Given the description of an element on the screen output the (x, y) to click on. 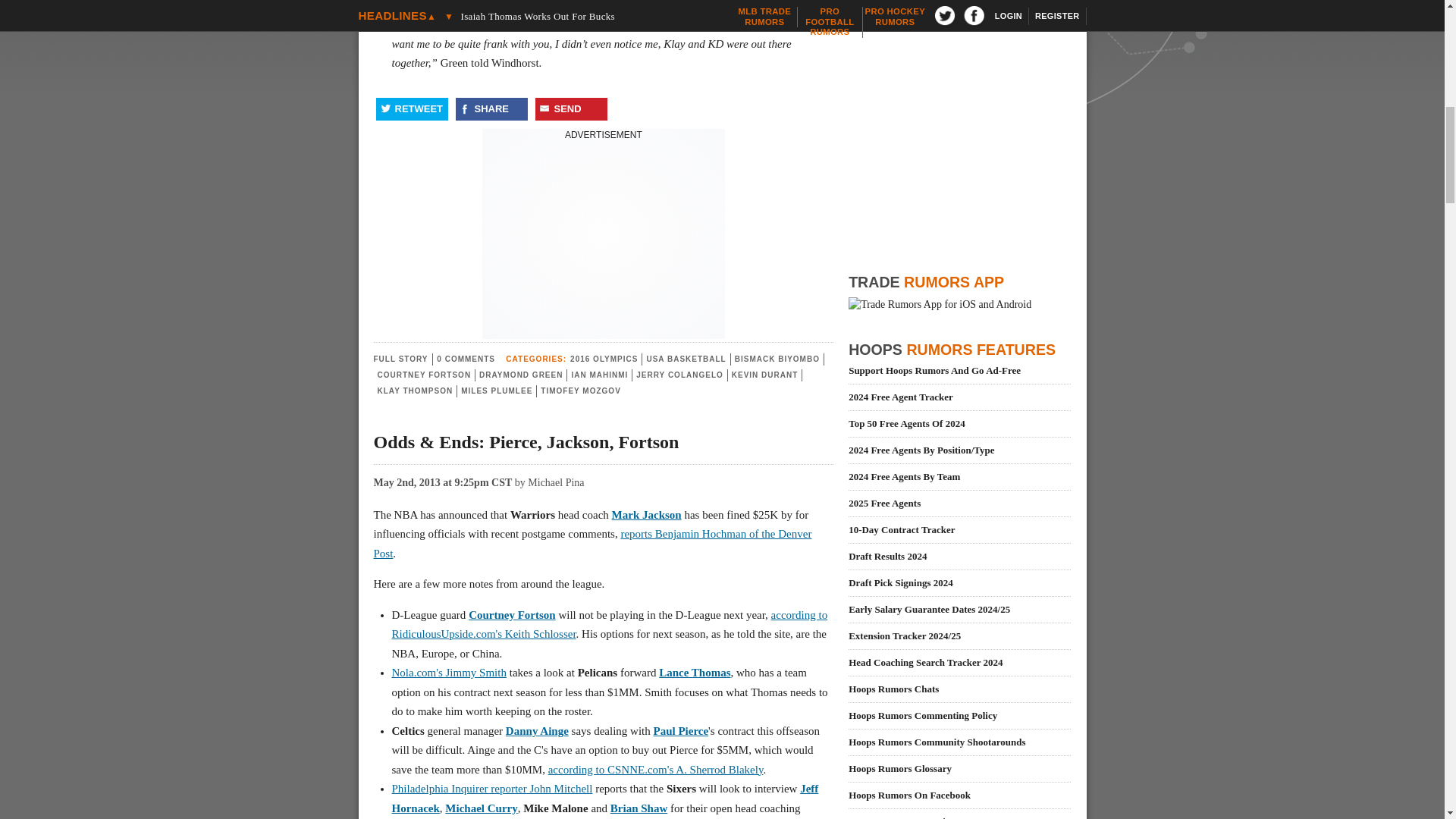
View all posts in USA Basketball (685, 358)
3rd party ad content (603, 236)
View all posts in Klay Thompson (414, 390)
Share 'And-Ones: Big Men, Colangelo, Fortson' on Facebook (490, 108)
View all posts in Draymond Green (520, 375)
View all posts in Kevin Durant (764, 375)
View all posts in Jerry Colangelo (679, 375)
View all posts in Miles Plumlee (496, 390)
View all posts in Bismack Biyombo (777, 358)
View all posts in Ian Mahinmi (598, 375)
View all posts in Courtney Fortson (424, 375)
Send And-Ones: Big Men, Colangelo, Fortson with an email (571, 108)
View all posts in 2016 Olympics (603, 358)
Retweet 'And-Ones: Big Men, Colangelo, Fortson' on Twitter (411, 108)
